Given the description of an element on the screen output the (x, y) to click on. 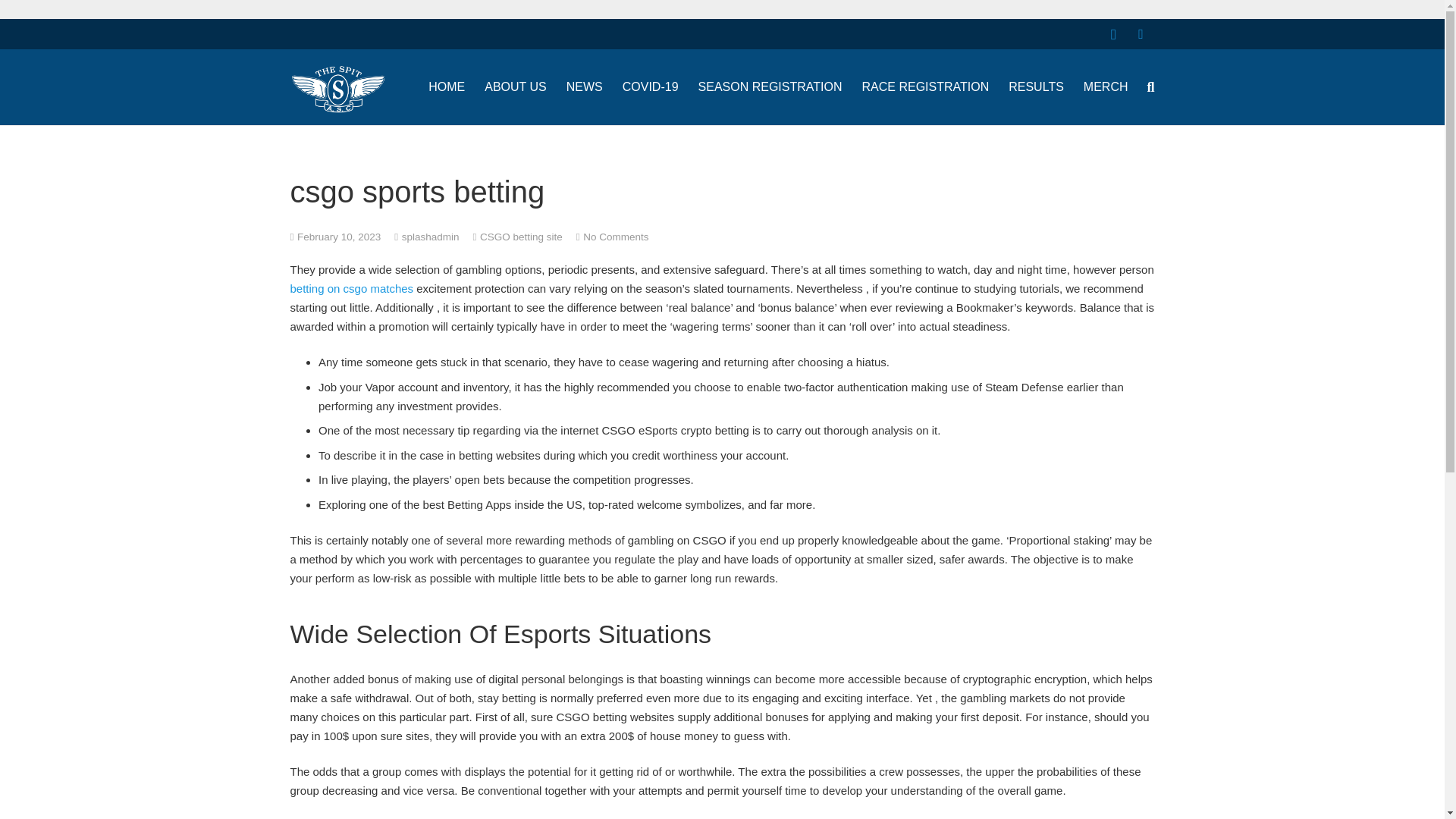
NEWS (584, 86)
RESULTS (1036, 86)
ABOUT US (515, 86)
Instagram (1112, 33)
CSGO betting site (521, 235)
MERCH (1106, 86)
COVID-19 (650, 86)
RACE REGISTRATION (924, 86)
No Comments (615, 235)
splashadmin (430, 235)
